Given the description of an element on the screen output the (x, y) to click on. 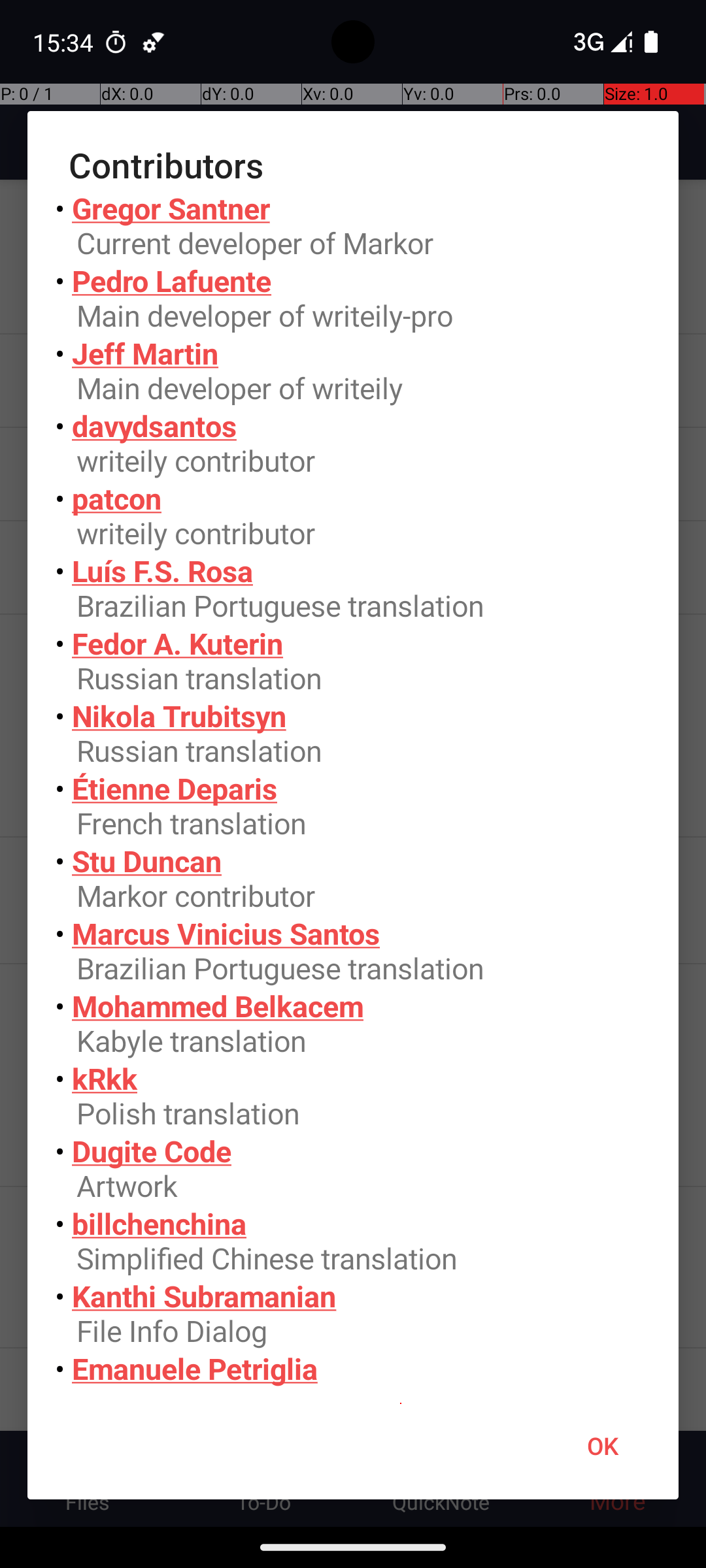
• Gregor Santner
   Current developer of Markor
• Pedro Lafuente
   Main developer of writeily-pro
• Jeff Martin
   Main developer of writeily
• davydsantos
   writeily contributor
• patcon
   writeily contributor
• Luís F.S. Rosa
   Brazilian Portuguese translation
• Fedor A. Kuterin
   Russian translation
• Nikola Trubitsyn
   Russian translation
• Étienne Deparis
   French translation
• Stu Duncan
   Markor contributor
• Marcus Vinicius Santos
   Brazilian Portuguese translation
• Mohammed Belkacem
   Kabyle translation
• kRkk
   Polish translation
• Dugite Code
   Artwork
• billchenchina
   Simplified Chinese translation
• Kanthi Subramanian
   File Info Dialog
• Emanuele Petriglia
   Italian translation
• Tiago Danin
   Brazilian Portuguese translation
• Jesica Chu
   Spanish and Traiditonal Chinese translation
• Ankush S Shetkar
   Added Chrome custom tabs for urls
• Lars Pontoppidan
   Danish translation
• Amaya Lim
   Improve project description
• Jawkwon Im
   Add keep screen on
• Mark Goldman
   Added sorting for todo.txt, improved wiki
• natanelho
   Hebrew translation
• Alexander Sachse
   Added simple word counter
• Kyle Phelps
   Added functionality to share multiple files from file browser
• Vladislav Glinsky
   Ukrainian/Russian translations
• David Hebbeker
   Added tooltips for text actions.
• Harshad Srinivasan
   Added functionality to handle leading spaces in lists.
• Niels
   Added encryption for textfile contents.
• Helguli
   Added fast scroll to editor.
• Patricia Heimfarth
   Added checkbox for todo completion date
• Peter Schwede
   Added Zim-Wiki support.
• Frederic Jacob
   Added Zim-Wiki highlighting, text actions, view mode, page creation.
• Winston Feng
   Support spaces in URL.
• k3b
   Added CSV-Support.
 Element type: android.widget.TextView (352, 790)
